Given the description of an element on the screen output the (x, y) to click on. 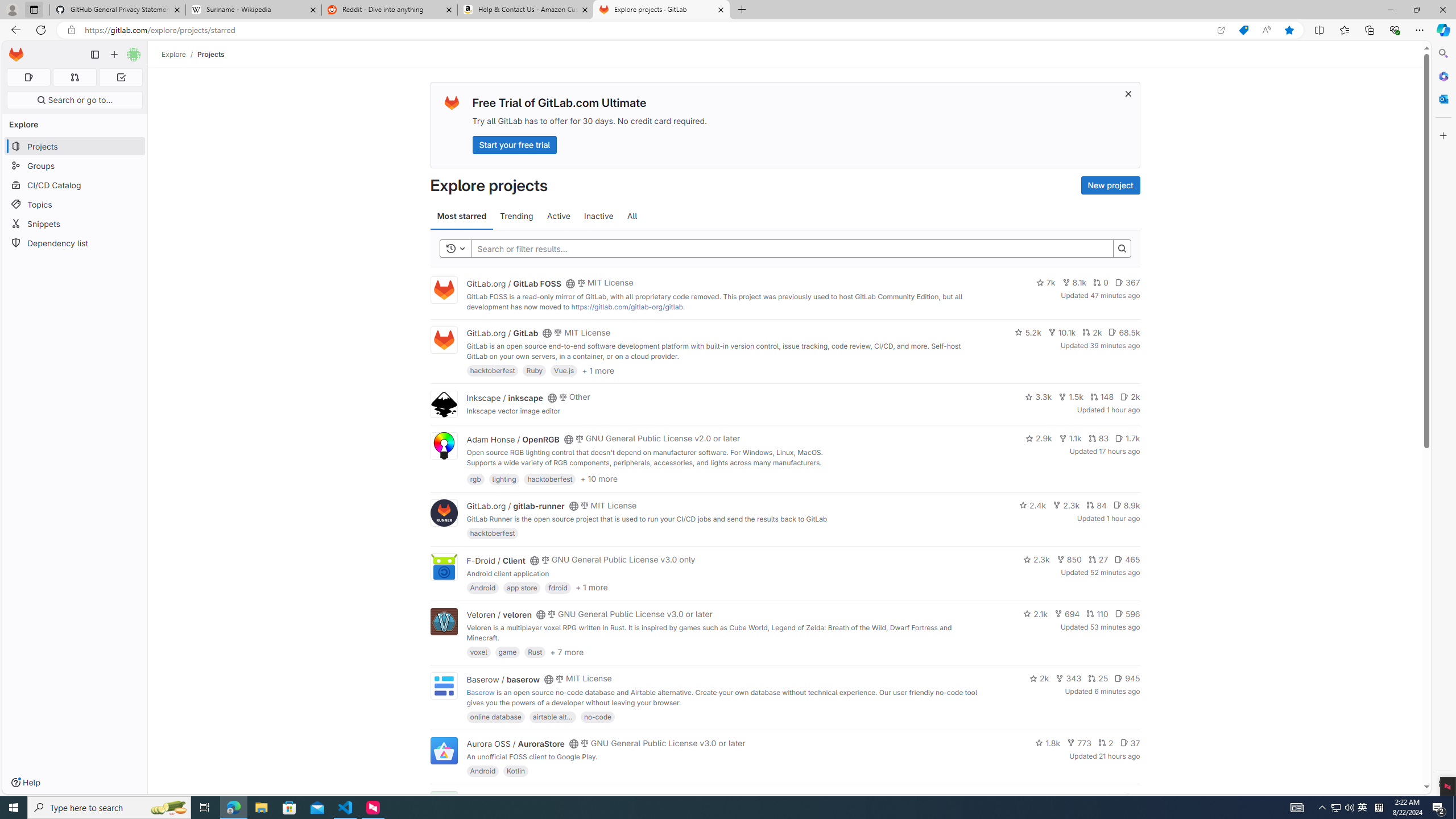
773 (1079, 742)
2.3k (1035, 559)
F-Droid / Client (495, 560)
Kotlin (515, 770)
All (632, 216)
110 (1097, 613)
2 (1105, 742)
Snippets (74, 223)
CI/CD Catalog (74, 185)
Vue.js (563, 370)
Assigned issues 0 (28, 76)
F (443, 805)
